Given the description of an element on the screen output the (x, y) to click on. 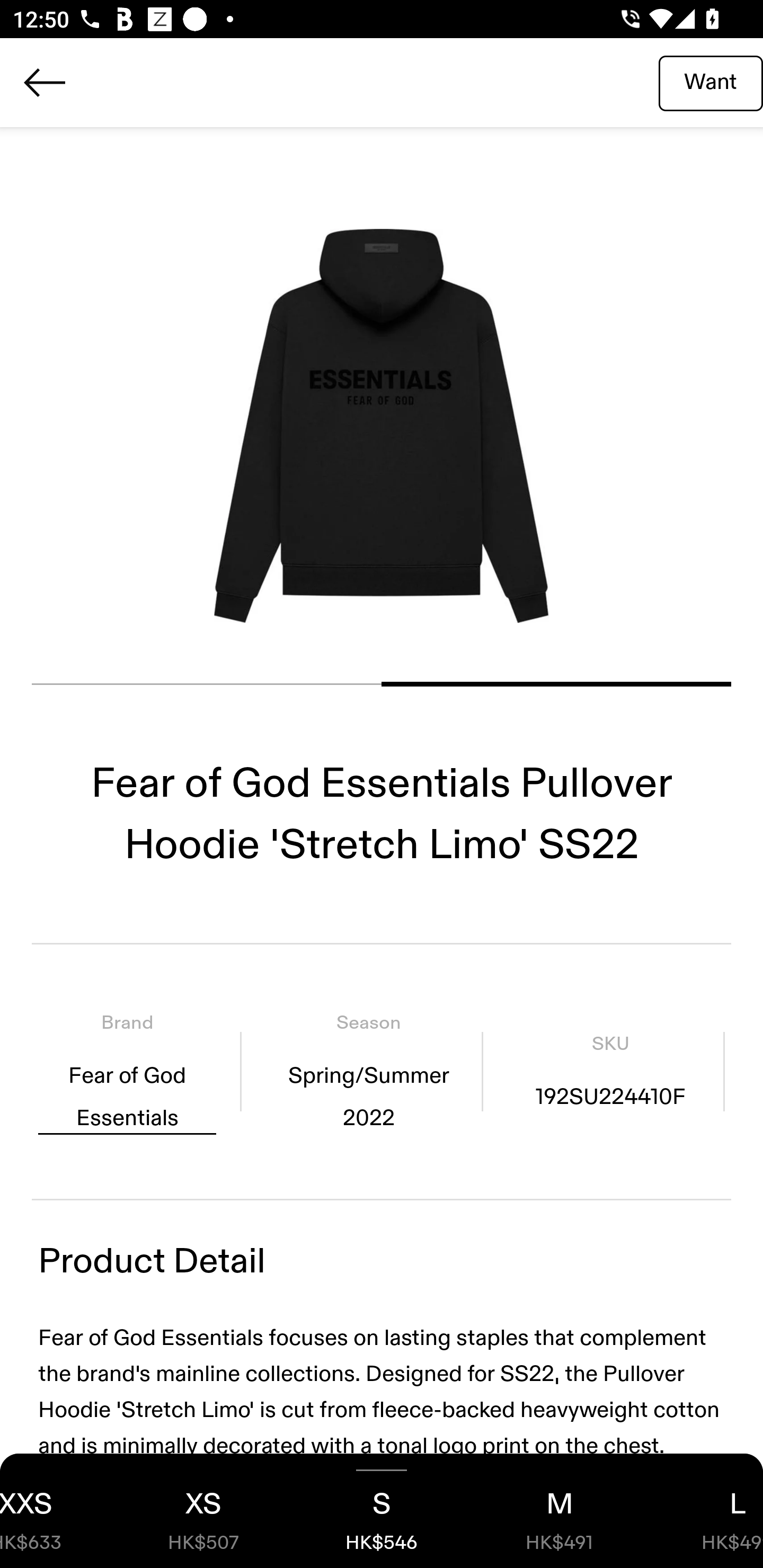
Want (710, 82)
Brand Fear of God Essentials (126, 1070)
Season Spring/Summer 2022 (368, 1070)
SKU 192SU224410F (609, 1070)
XXS HK$633 (57, 1510)
XS HK$507 (203, 1510)
S HK$546 (381, 1510)
M HK$491 (559, 1510)
L HK$499 (705, 1510)
